Given the description of an element on the screen output the (x, y) to click on. 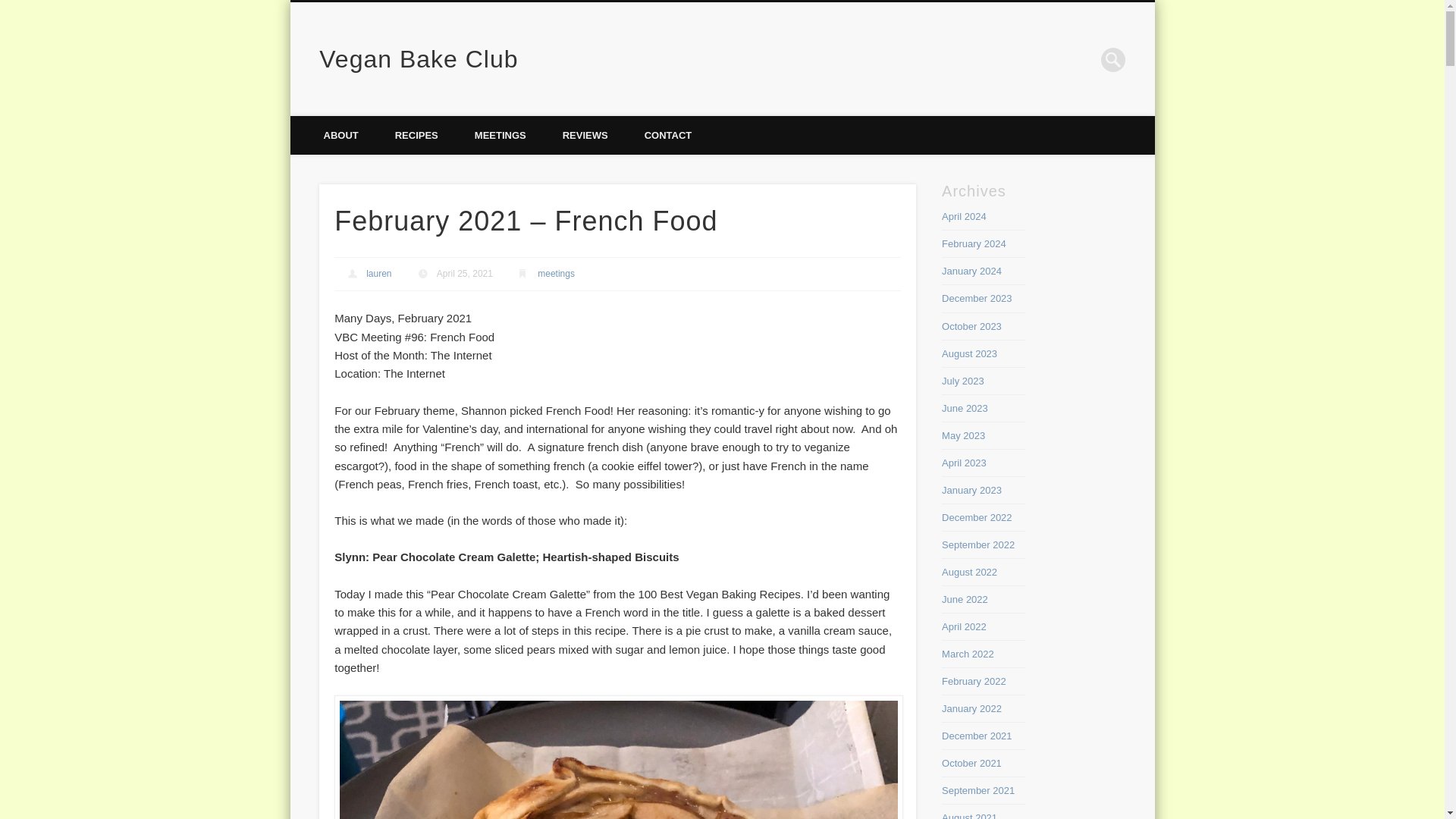
Posts by lauren (378, 273)
lauren (378, 273)
ABOUT (339, 135)
CONTACT (668, 135)
Vegan Bake Club (418, 58)
meetings (556, 273)
RECIPES (417, 135)
April 2024 (964, 215)
REVIEWS (585, 135)
Search (11, 7)
MEETINGS (500, 135)
